Given the description of an element on the screen output the (x, y) to click on. 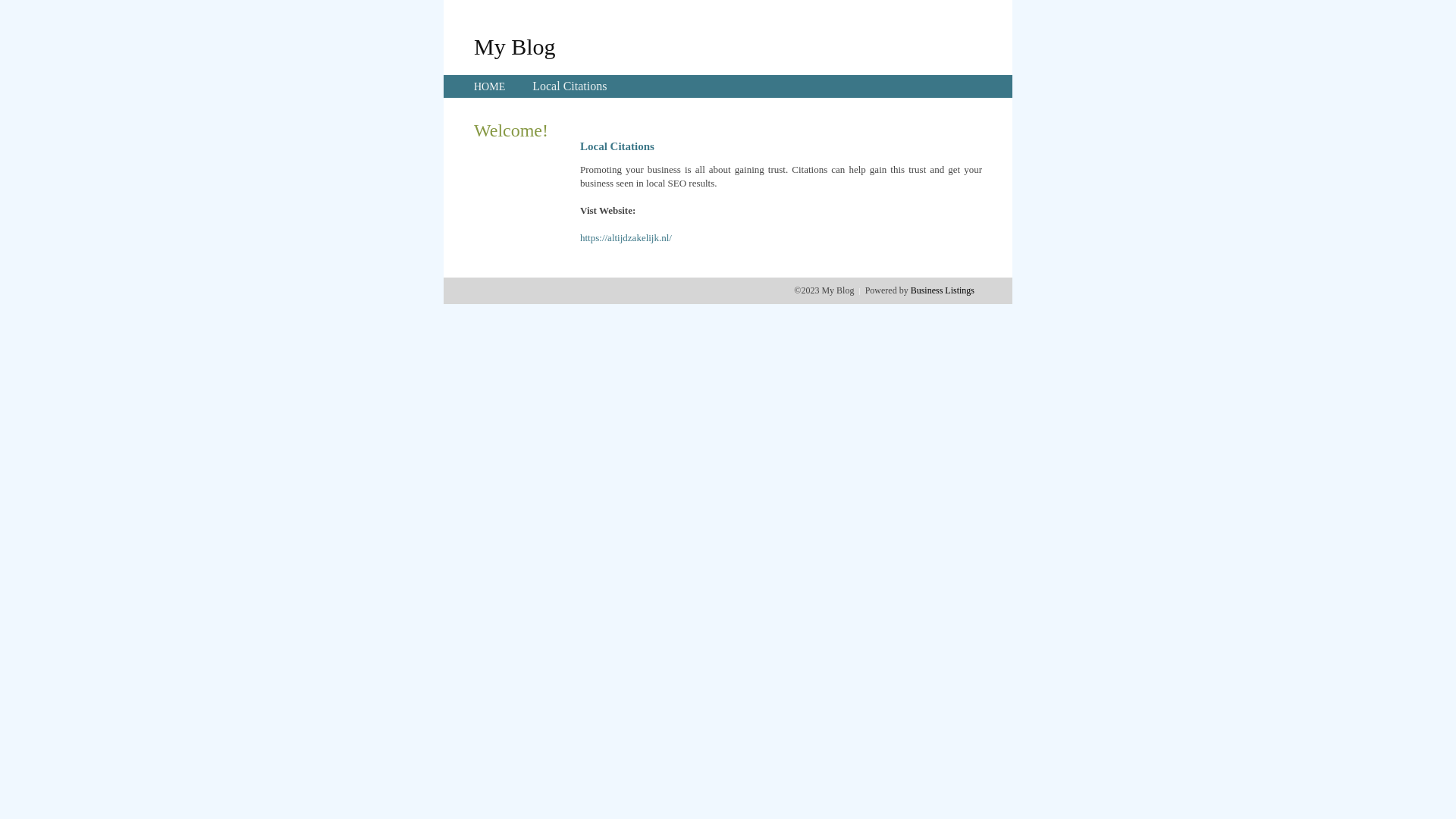
Local Citations Element type: text (569, 85)
Business Listings Element type: text (942, 290)
https://altijdzakelijk.nl/ Element type: text (625, 237)
My Blog Element type: text (514, 46)
HOME Element type: text (489, 86)
